Given the description of an element on the screen output the (x, y) to click on. 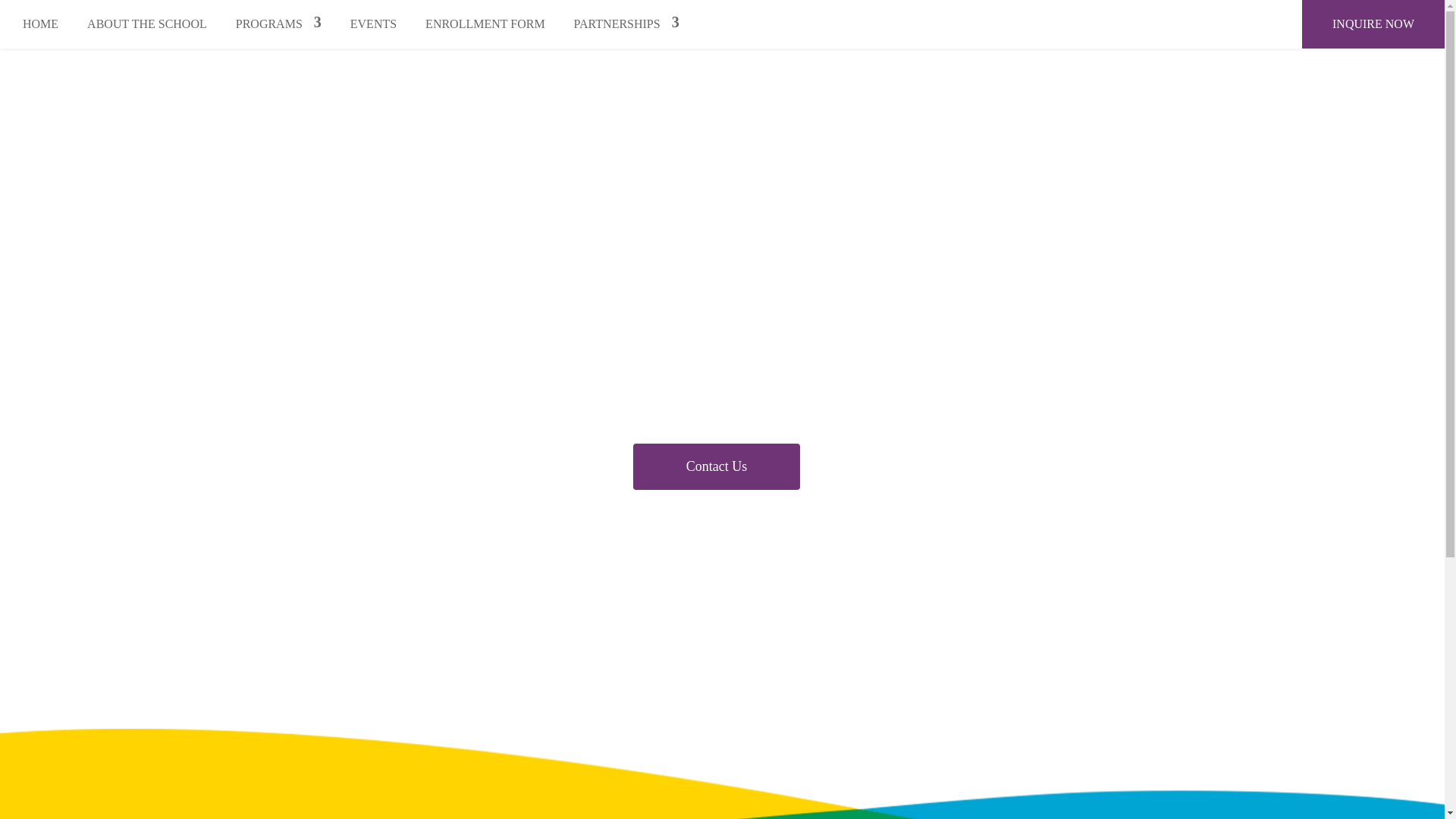
PROGRAMS (278, 24)
Contact Us (716, 466)
ENROLLMENT FORM (484, 24)
ABOUT THE SCHOOL (146, 24)
EVENTS (373, 24)
PARTNERSHIPS (626, 24)
